Given the description of an element on the screen output the (x, y) to click on. 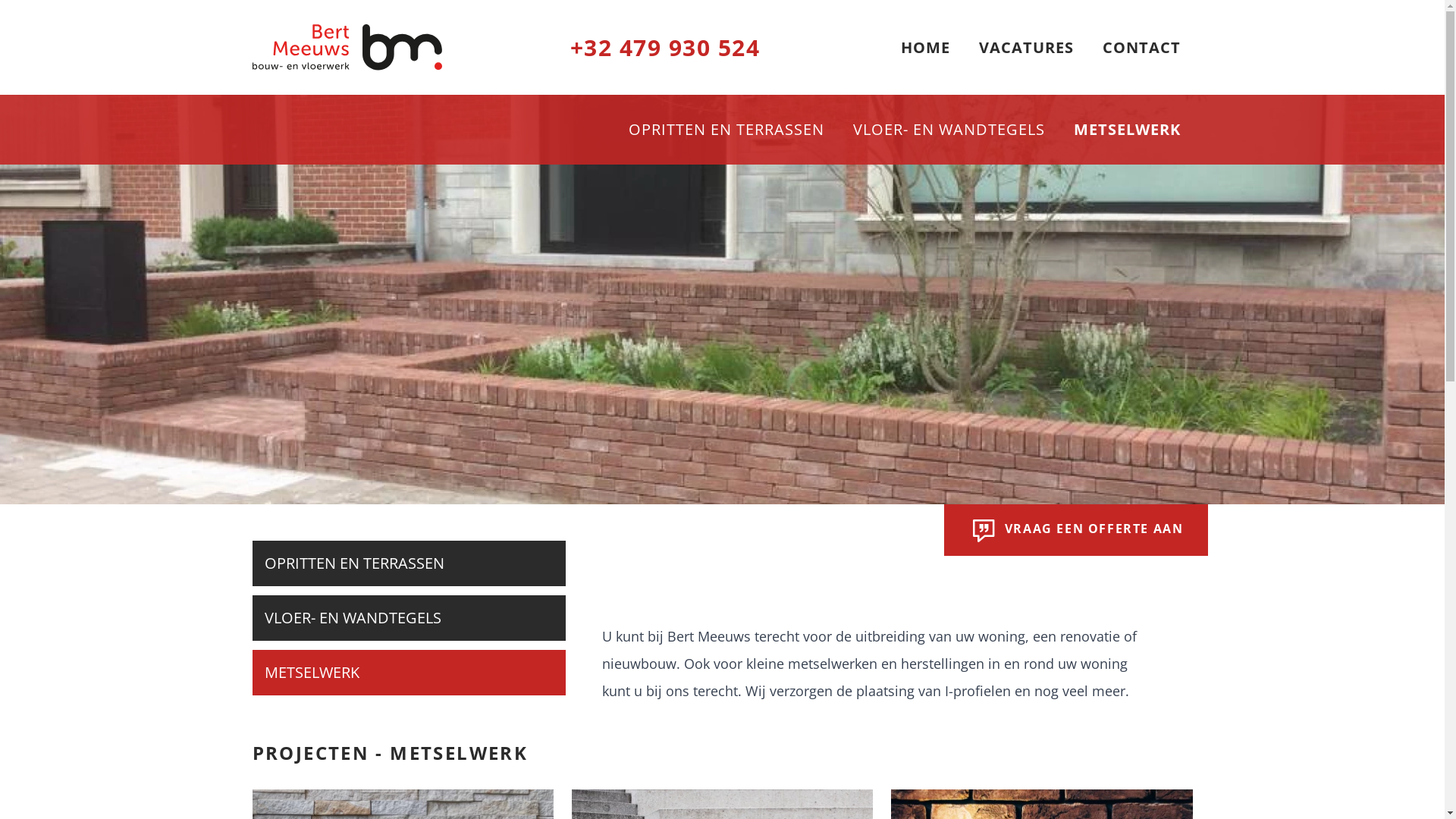
+32 479 930 524 Element type: text (665, 46)
VLOER- EN WANDTEGELS Element type: text (407, 617)
VLOER- EN WANDTEGELS Element type: text (1300, 63)
HOME Element type: text (925, 46)
METSELWERK Element type: text (1269, 81)
METSELWERK Element type: text (1126, 128)
METSELWERK Element type: text (407, 672)
VACATURES Element type: text (1025, 46)
VLOER- EN WANDTEGELS Element type: text (948, 128)
OPRITTEN EN TERRASSEN Element type: text (407, 563)
CONTACT Element type: text (1256, 26)
VRAAG EEN OFFERTE AAN Element type: text (1075, 529)
CONTACT Element type: text (1141, 46)
OPRITTEN EN TERRASSEN Element type: text (1301, 45)
OPRITTEN EN TERRASSEN Element type: text (725, 128)
